Given the description of an element on the screen output the (x, y) to click on. 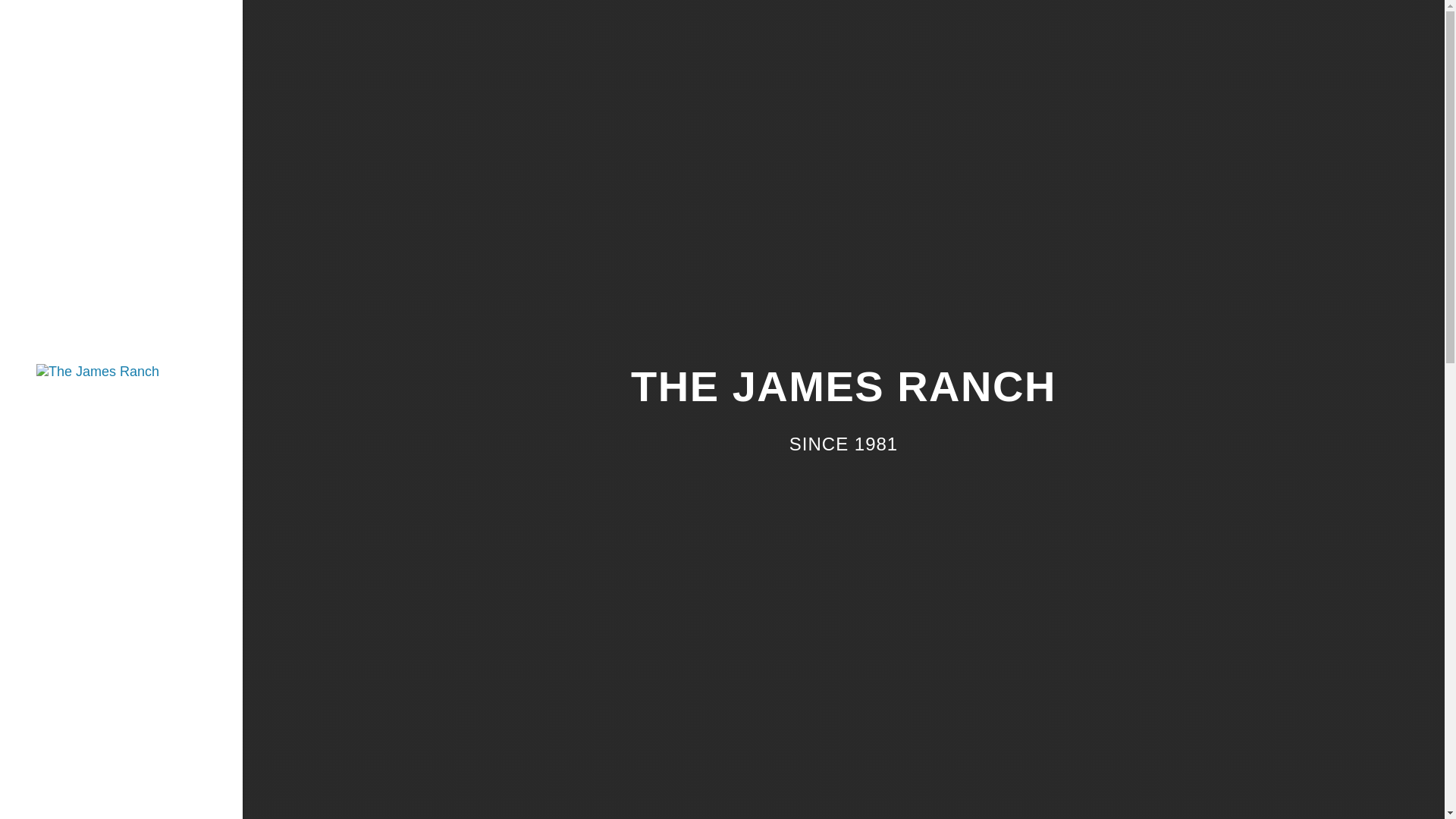
The James Ranch (97, 370)
